Given the description of an element on the screen output the (x, y) to click on. 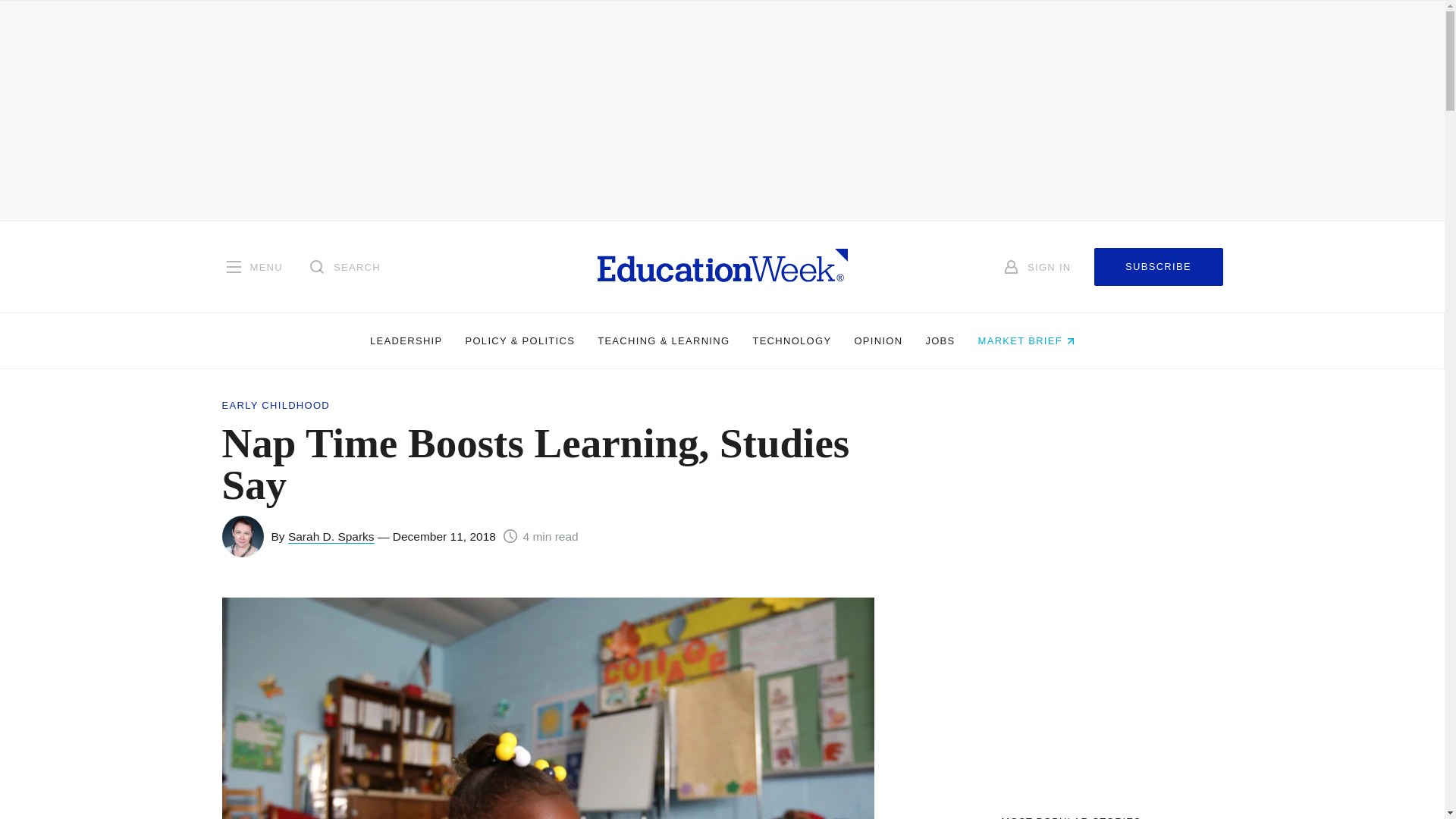
3rd party ad content (1070, 692)
Homepage (721, 266)
